Given the description of an element on the screen output the (x, y) to click on. 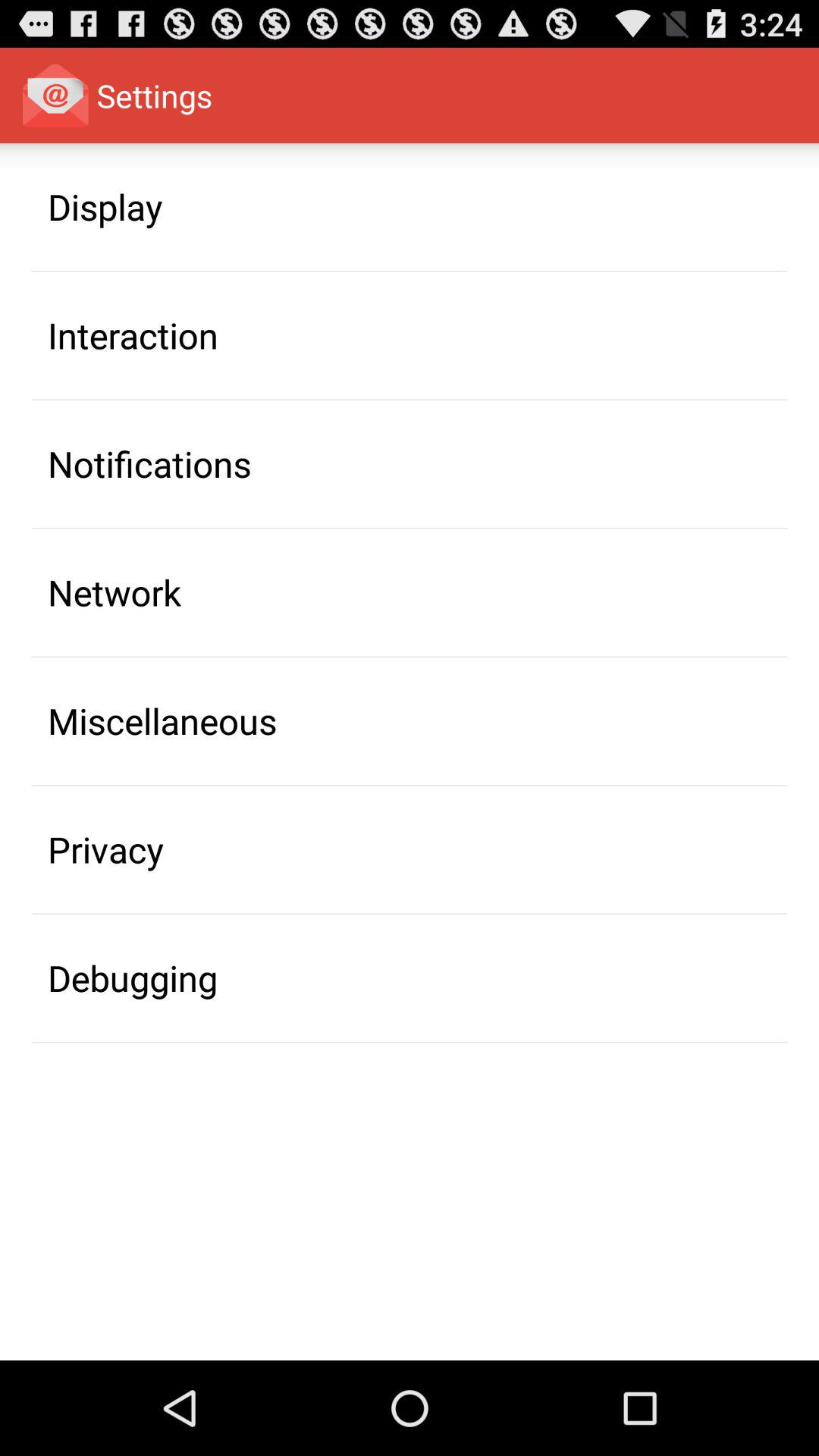
launch icon above the interaction icon (104, 206)
